Given the description of an element on the screen output the (x, y) to click on. 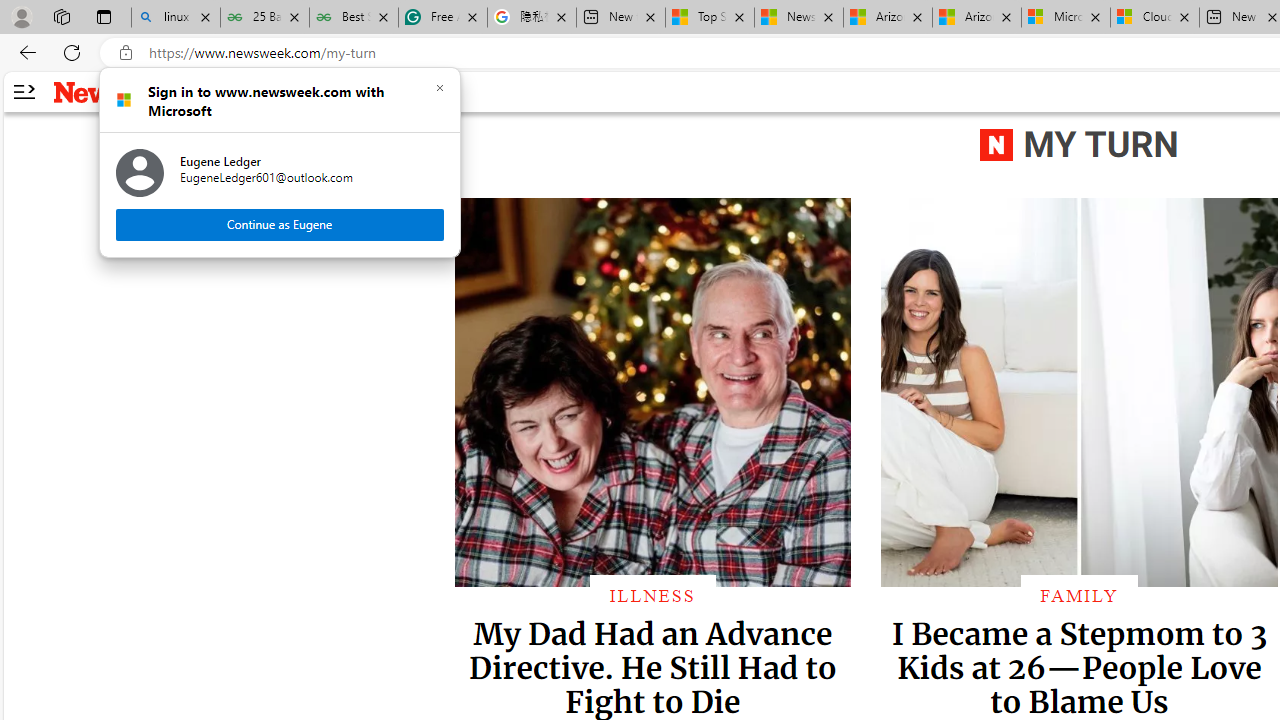
Cloud Computing Services | Microsoft Azure (1155, 17)
Microsoft Services Agreement (1065, 17)
25 Basic Linux Commands For Beginners - GeeksforGeeks (264, 17)
FAMILY (1078, 595)
Best SSL Certificates Provider in India - GeeksforGeeks (353, 17)
linux basic - Search (175, 17)
New tab (621, 17)
News - MSN (799, 17)
ILLNESS (652, 595)
Continue as Eugene (280, 224)
